Given the description of an element on the screen output the (x, y) to click on. 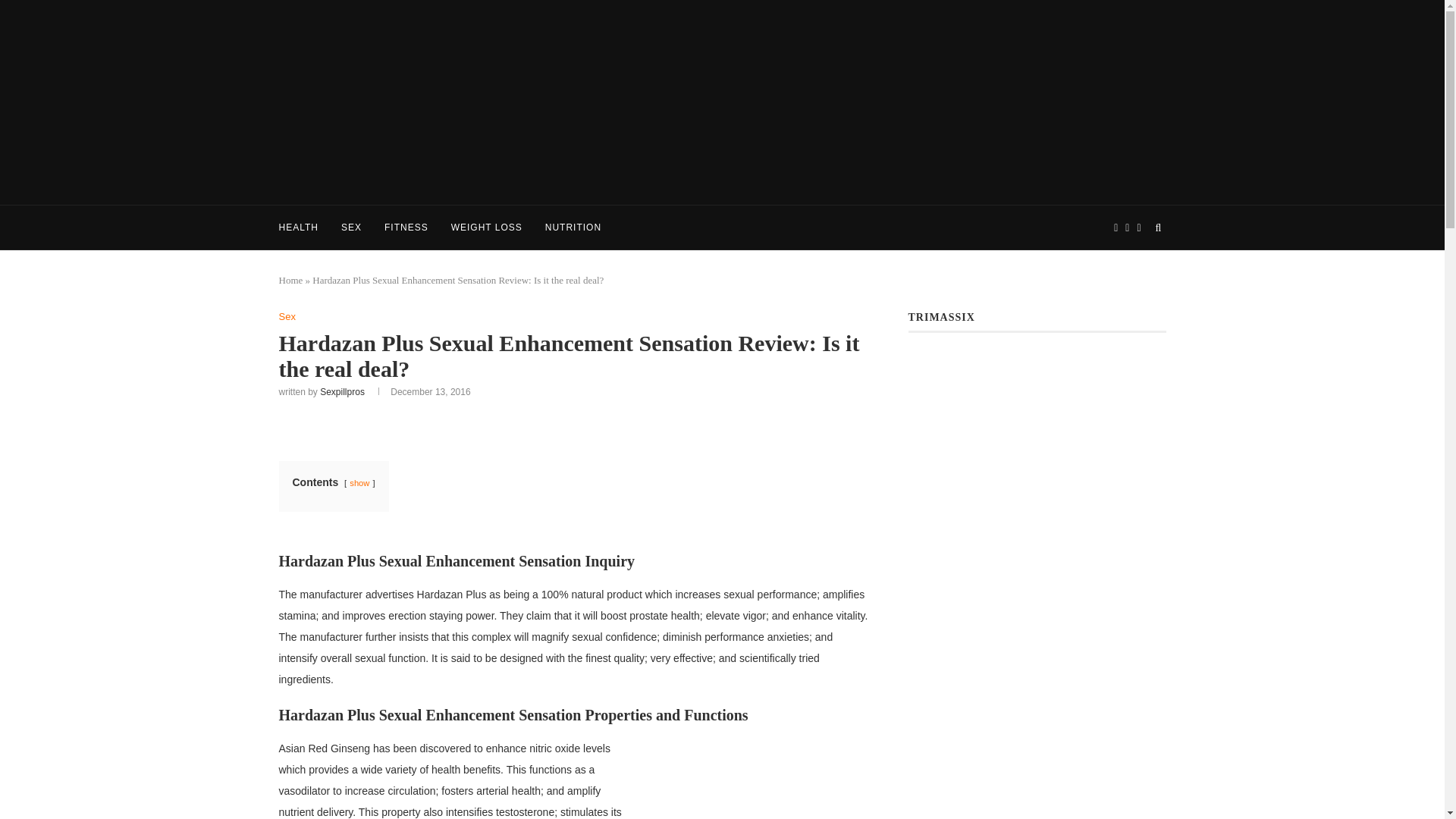
show (359, 482)
NUTRITION (572, 227)
Sex (287, 316)
Home (290, 279)
HEALTH (298, 227)
WEIGHT LOSS (486, 227)
Sexpillpros (342, 391)
FITNESS (406, 227)
